Given the description of an element on the screen output the (x, y) to click on. 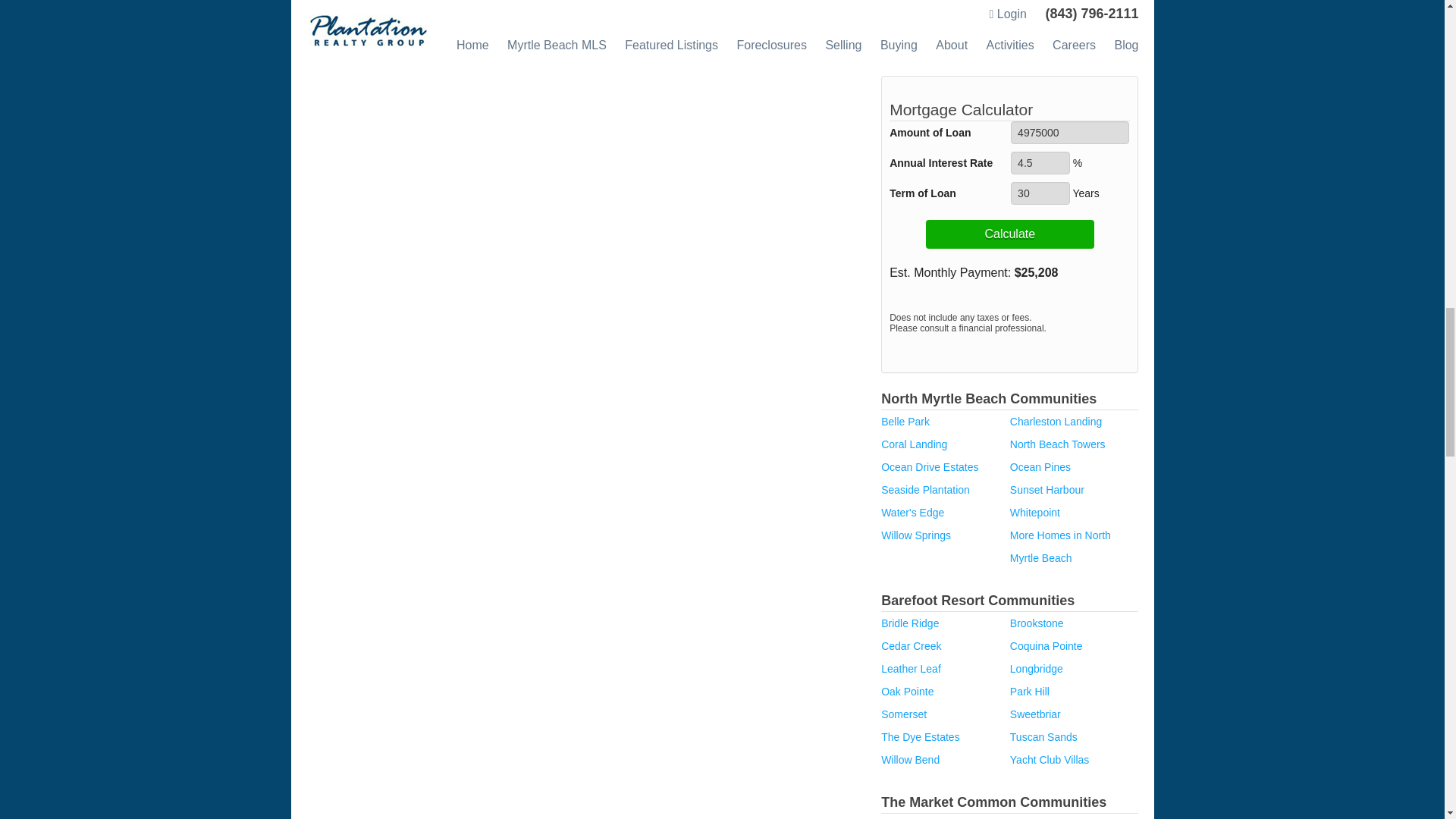
4975000 (1069, 132)
4.5 (1040, 162)
30 (1040, 192)
